Given the description of an element on the screen output the (x, y) to click on. 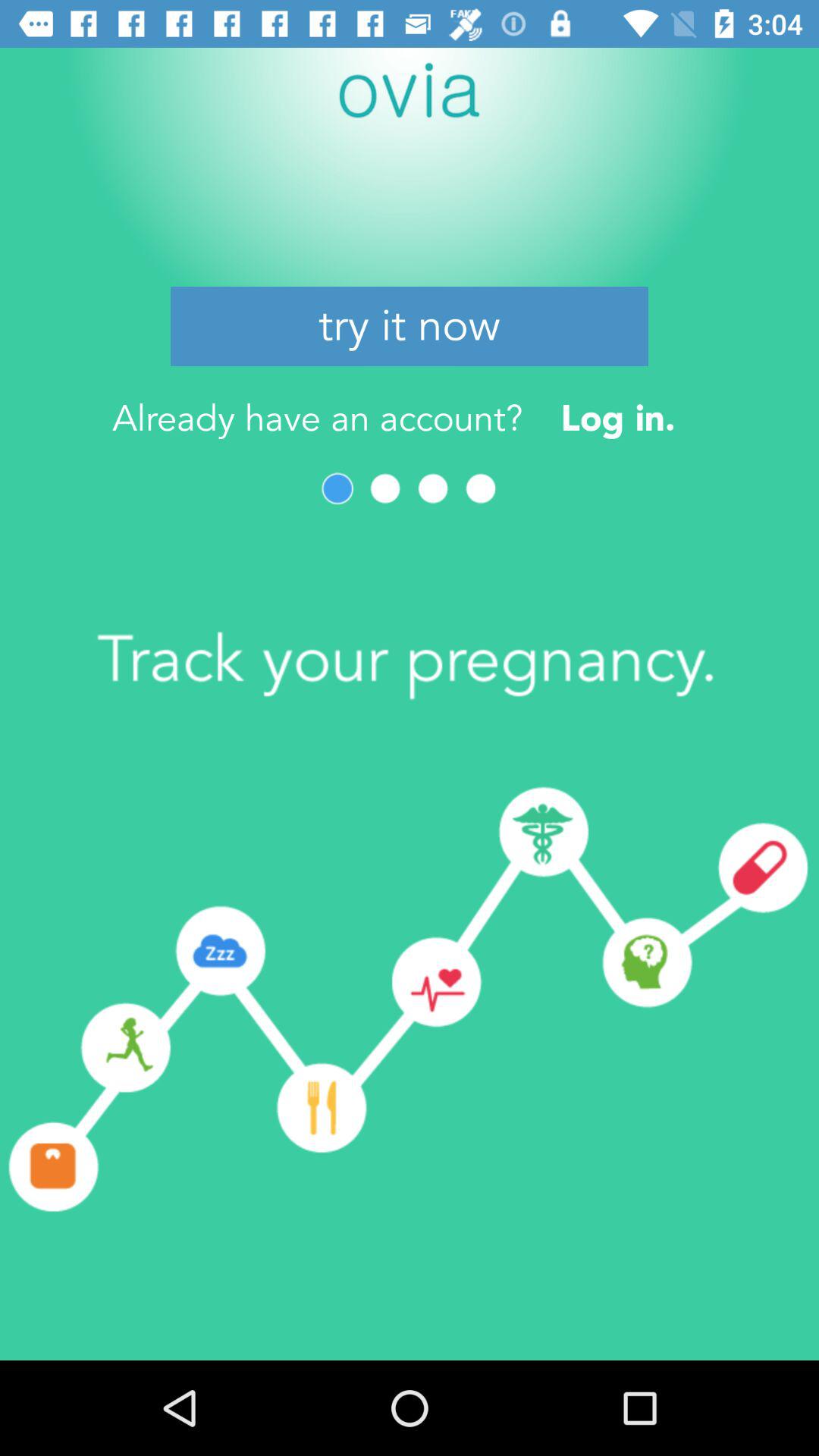
choose log in. at the top right corner (617, 417)
